Given the description of an element on the screen output the (x, y) to click on. 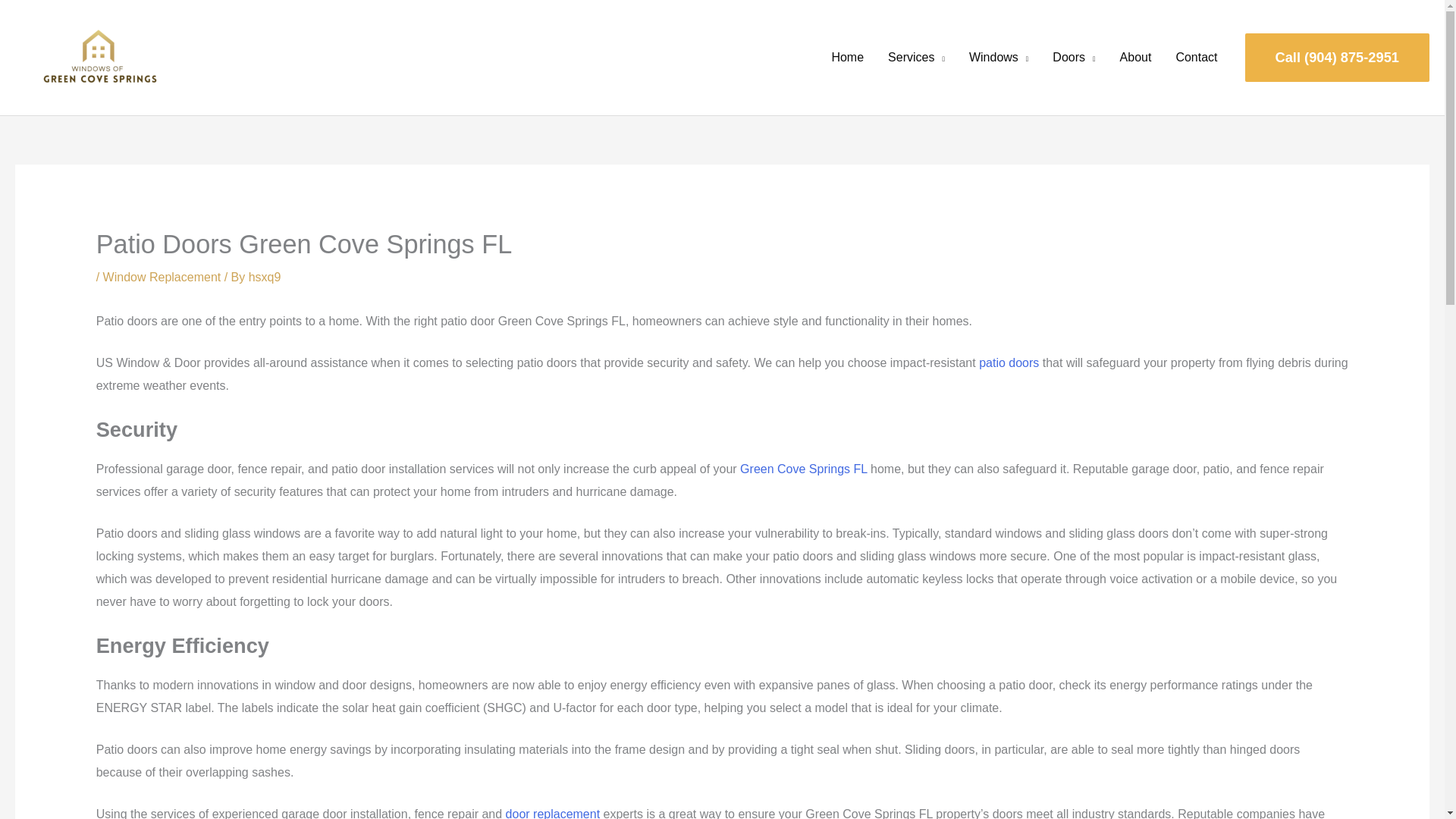
About (1135, 57)
Windows (998, 57)
Home (847, 57)
Services (916, 57)
door replacement (552, 813)
View all posts by hsxq9 (264, 277)
Green Cove Springs FL (802, 468)
Doors (1073, 57)
patio doors (1008, 362)
Contact (1195, 57)
